Given the description of an element on the screen output the (x, y) to click on. 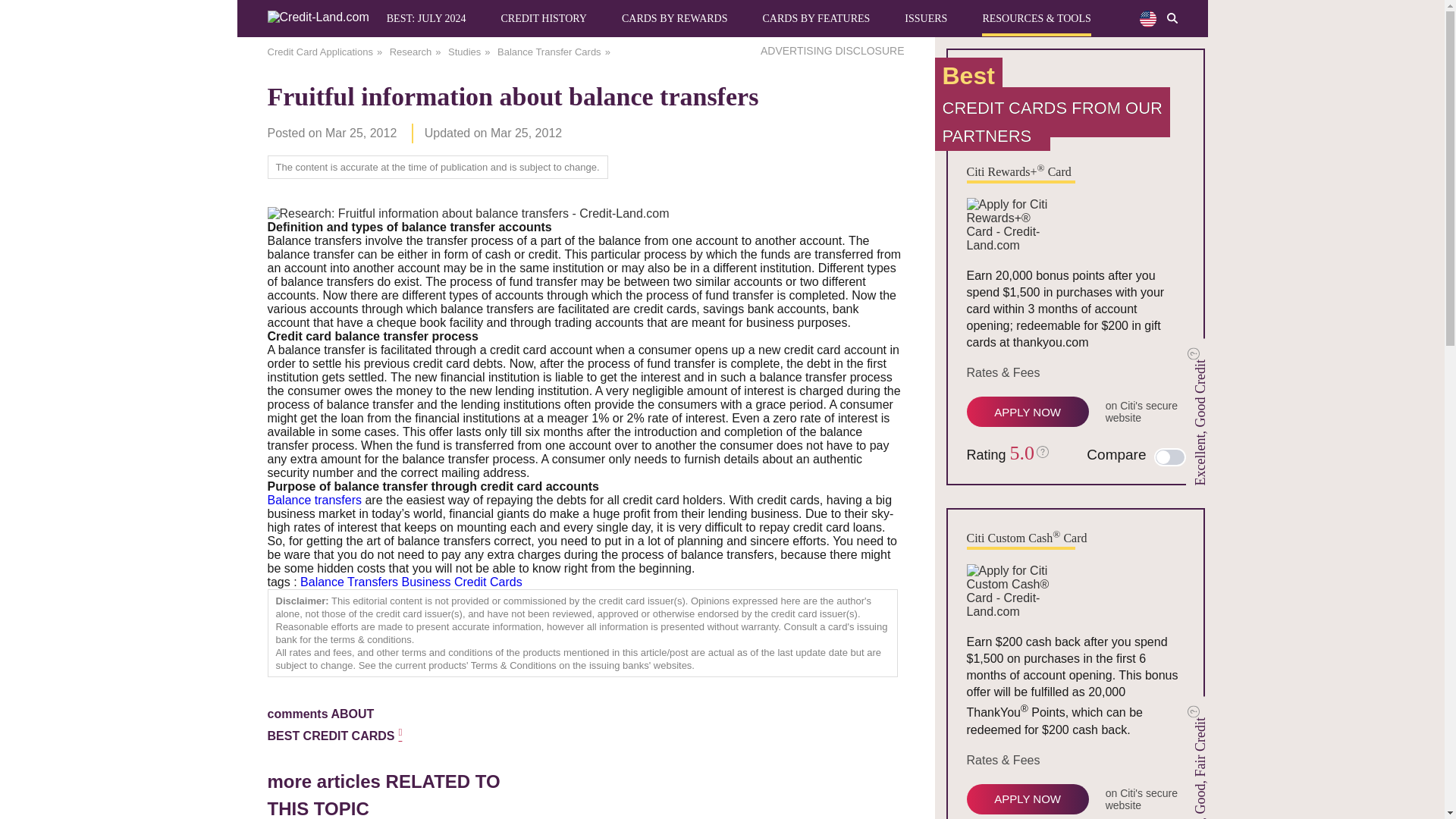
BEST: JULY 2024 (426, 18)
CARDS BY FEATURES (815, 18)
CARDS BY REWARDS (674, 18)
CREDIT HISTORY (543, 18)
